Given the description of an element on the screen output the (x, y) to click on. 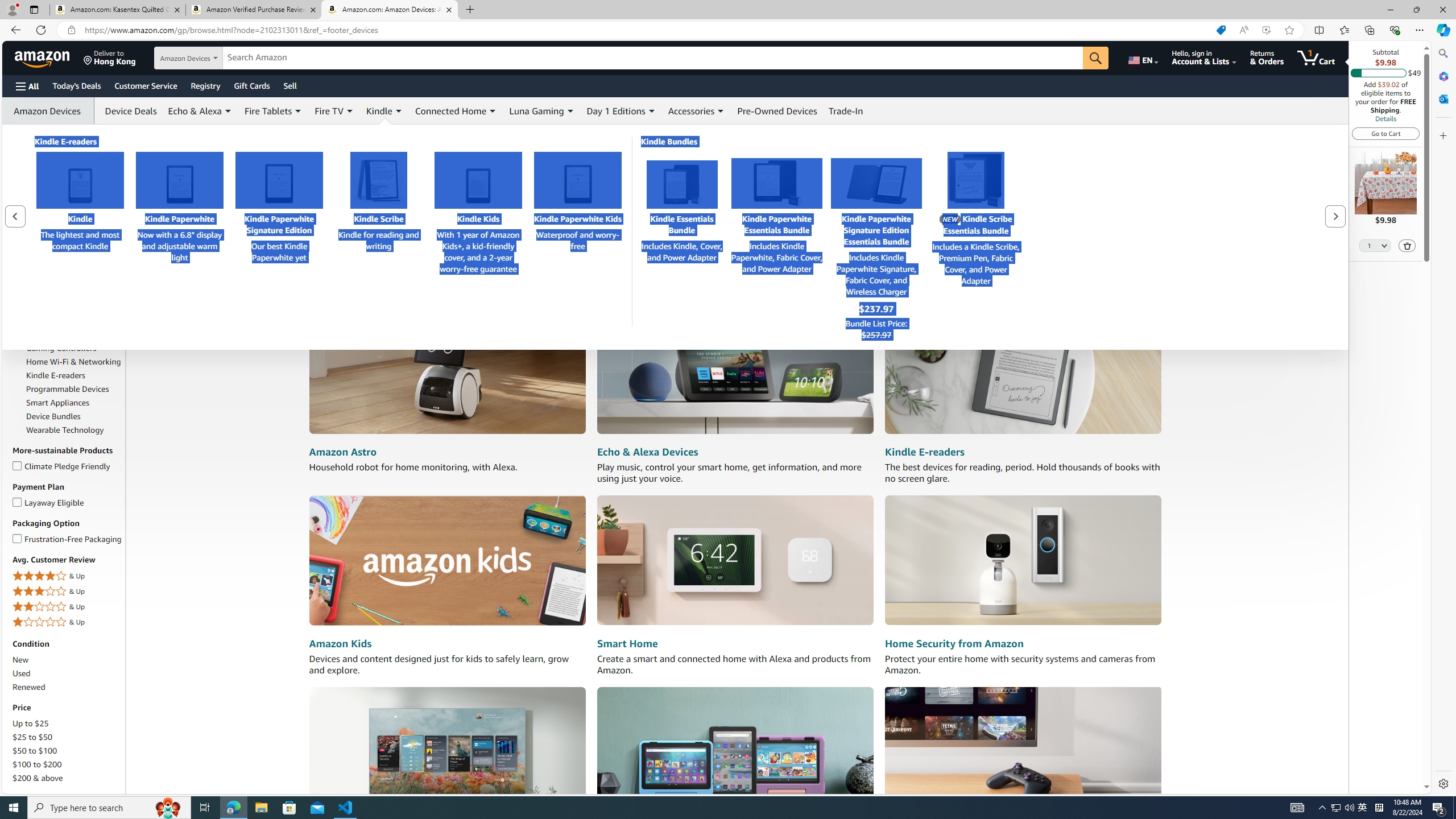
Smart Appliances (74, 402)
Expand Connected Home (492, 111)
Expand Fire TV (349, 111)
$25 to $50 (32, 737)
Home Security devices (1022, 560)
Echo Smart Speakers & Displays (68, 301)
Next page (1334, 216)
Kindle E-readersKindleThe lightest and most compact Kindle (79, 236)
Amazon Devices & Accessories (48, 223)
Earns commissions (385, 288)
Today's Deals (76, 85)
Kindle Kids (477, 179)
Kindle (79, 179)
Smart Appliances (57, 402)
1 Star & Up& Up (67, 621)
